Given the description of an element on the screen output the (x, y) to click on. 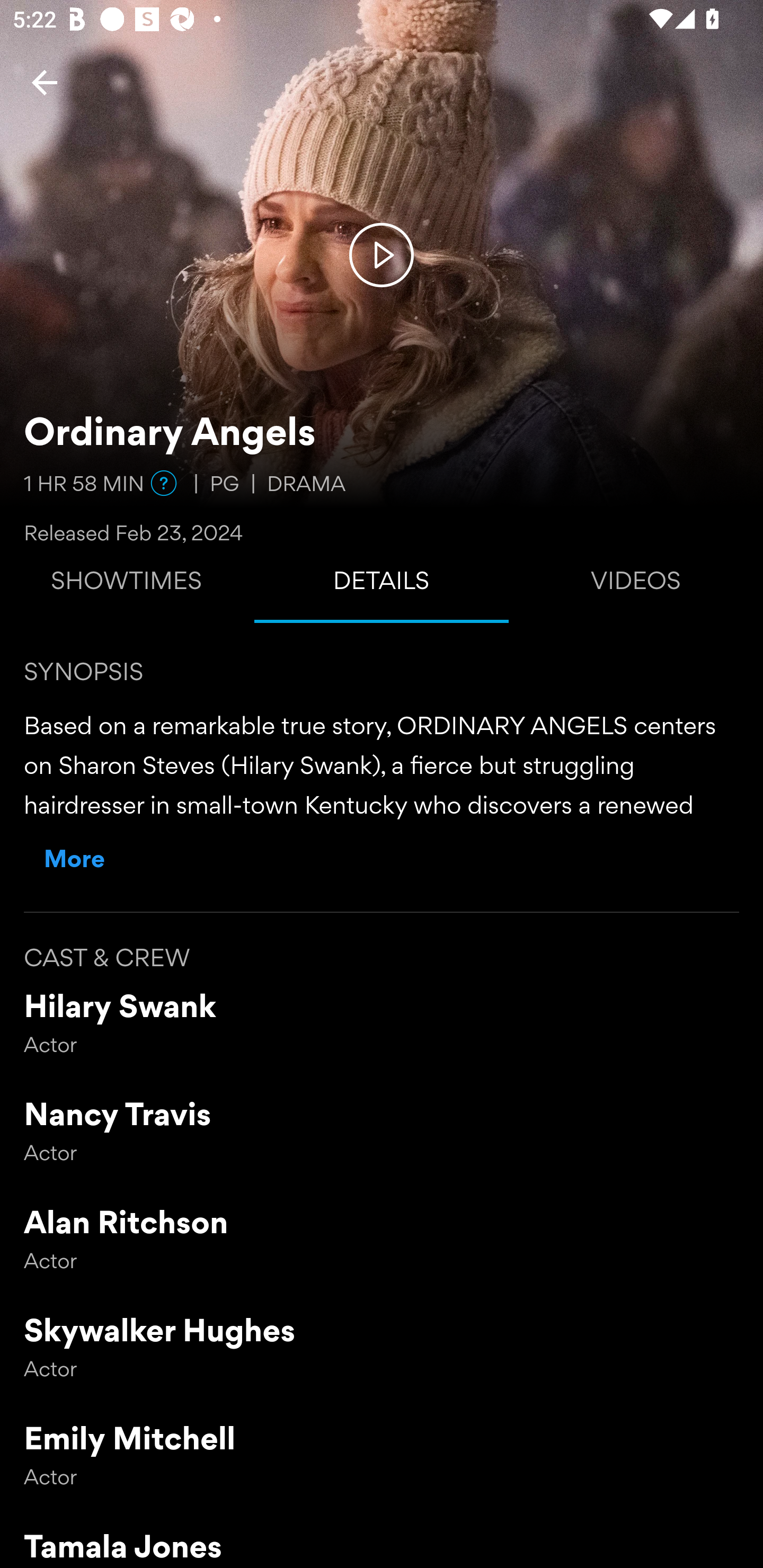
Back (44, 82)
Play (381, 254)
Help (163, 482)
SHOWTIMES
Tab 1 of 3 (127, 584)
DETAILS
Tab 2 of 3 (381, 584)
VIDEOS
Tab 3 of 3 (635, 584)
